Given the description of an element on the screen output the (x, y) to click on. 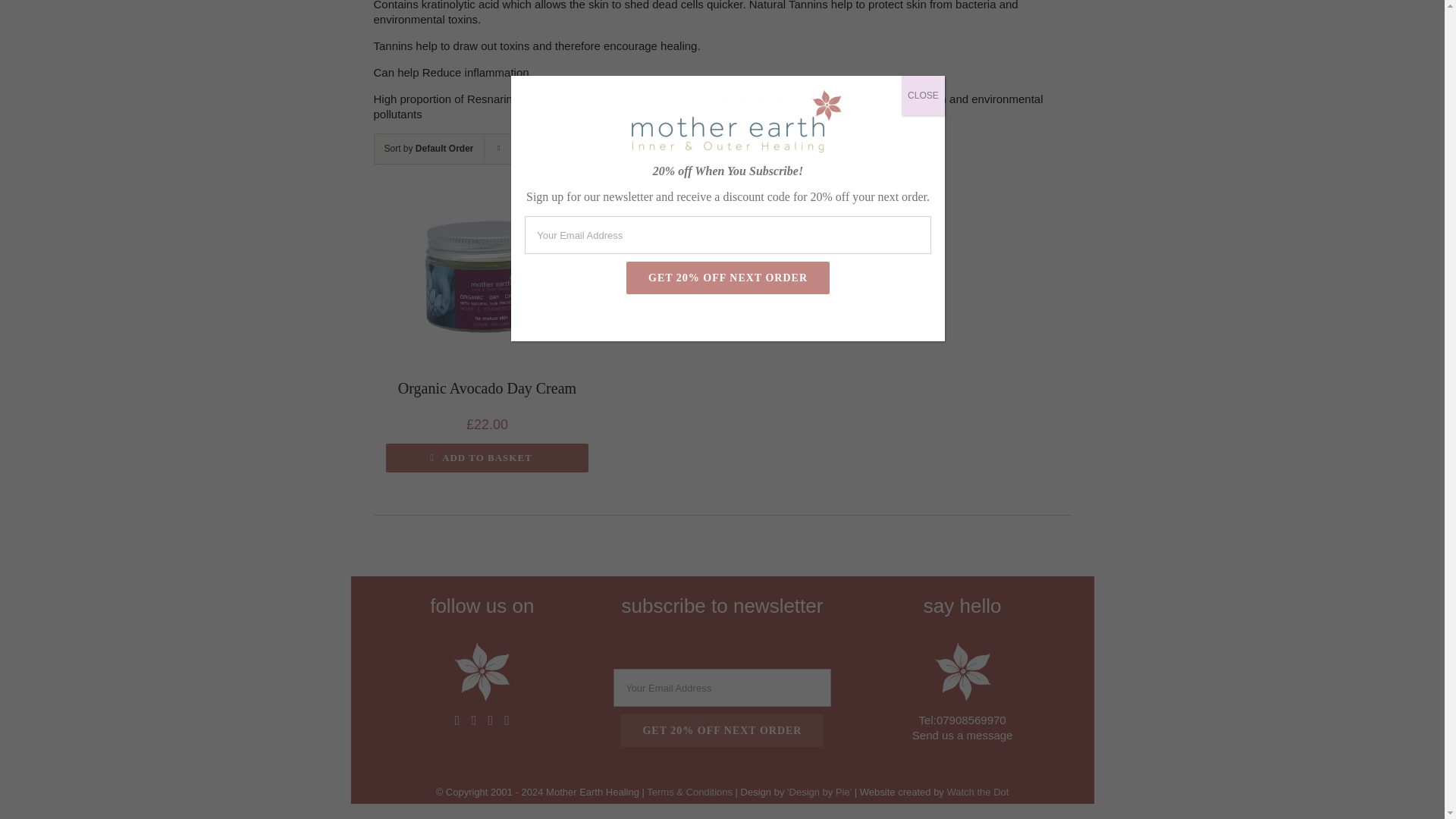
Log In (747, 2)
Sort by Default Order (428, 148)
